Given the description of an element on the screen output the (x, y) to click on. 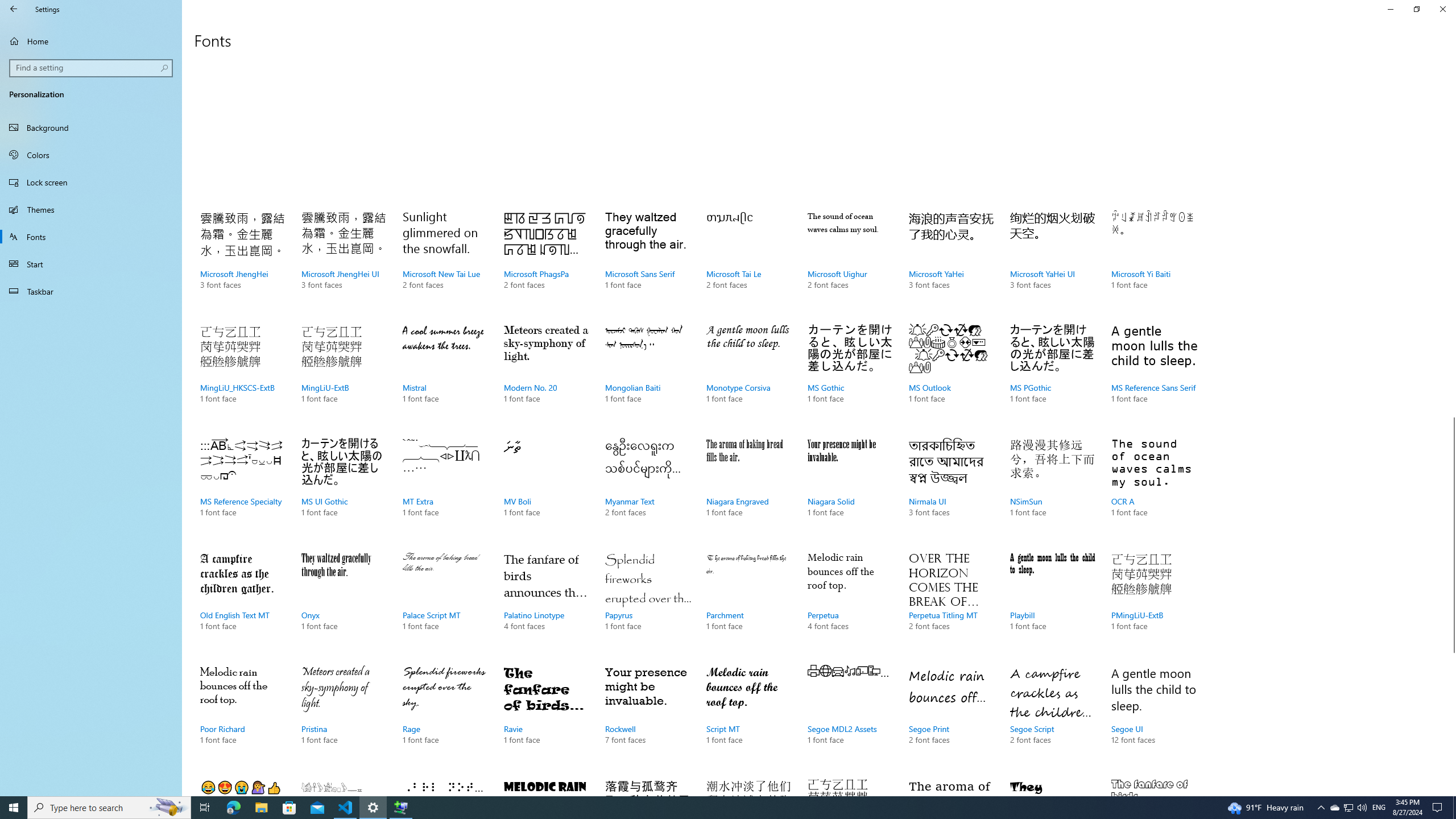
Script MT, 1 font face (748, 716)
Fonts (91, 236)
Monotype Corsiva, 1 font face (748, 375)
Microsoft PhagsPa, 2 font faces (545, 261)
Mistral, 1 font face (445, 375)
MS Outlook, 1 font face (951, 375)
Vertical (1451, 425)
Mongolian Baiti, 1 font face (647, 375)
Nirmala UI, 3 font faces (951, 489)
Microsoft YaHei, 3 font faces (951, 261)
